Given the description of an element on the screen output the (x, y) to click on. 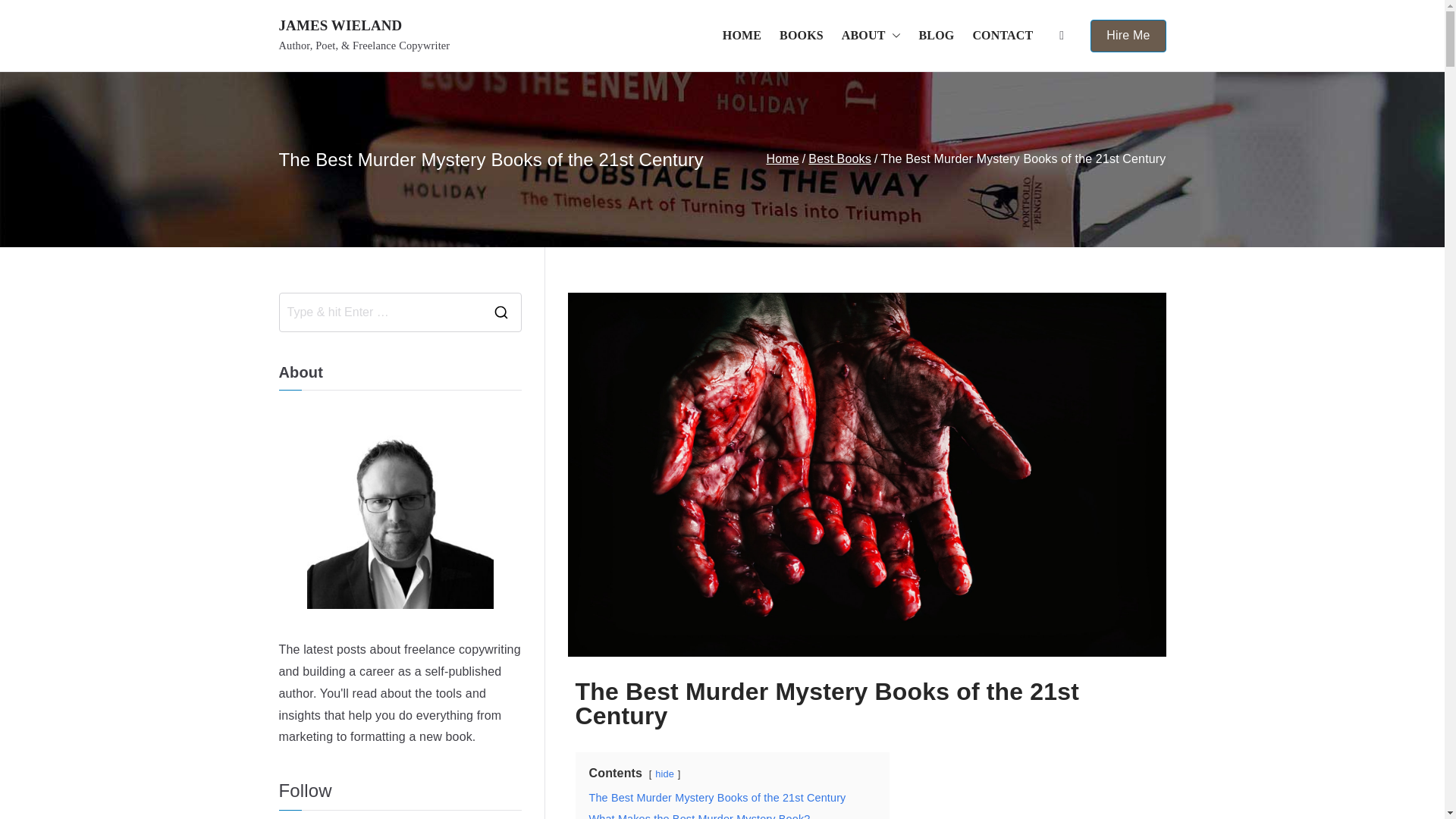
Home (781, 158)
BLOG (936, 35)
JAMES WIELAND (341, 25)
Search for: (379, 312)
HOME (741, 35)
ABOUT (871, 35)
Hire Me (1128, 35)
What Makes the Best Murder Mystery Book? (698, 816)
CONTACT (1002, 35)
Best Books (839, 158)
